Given the description of an element on the screen output the (x, y) to click on. 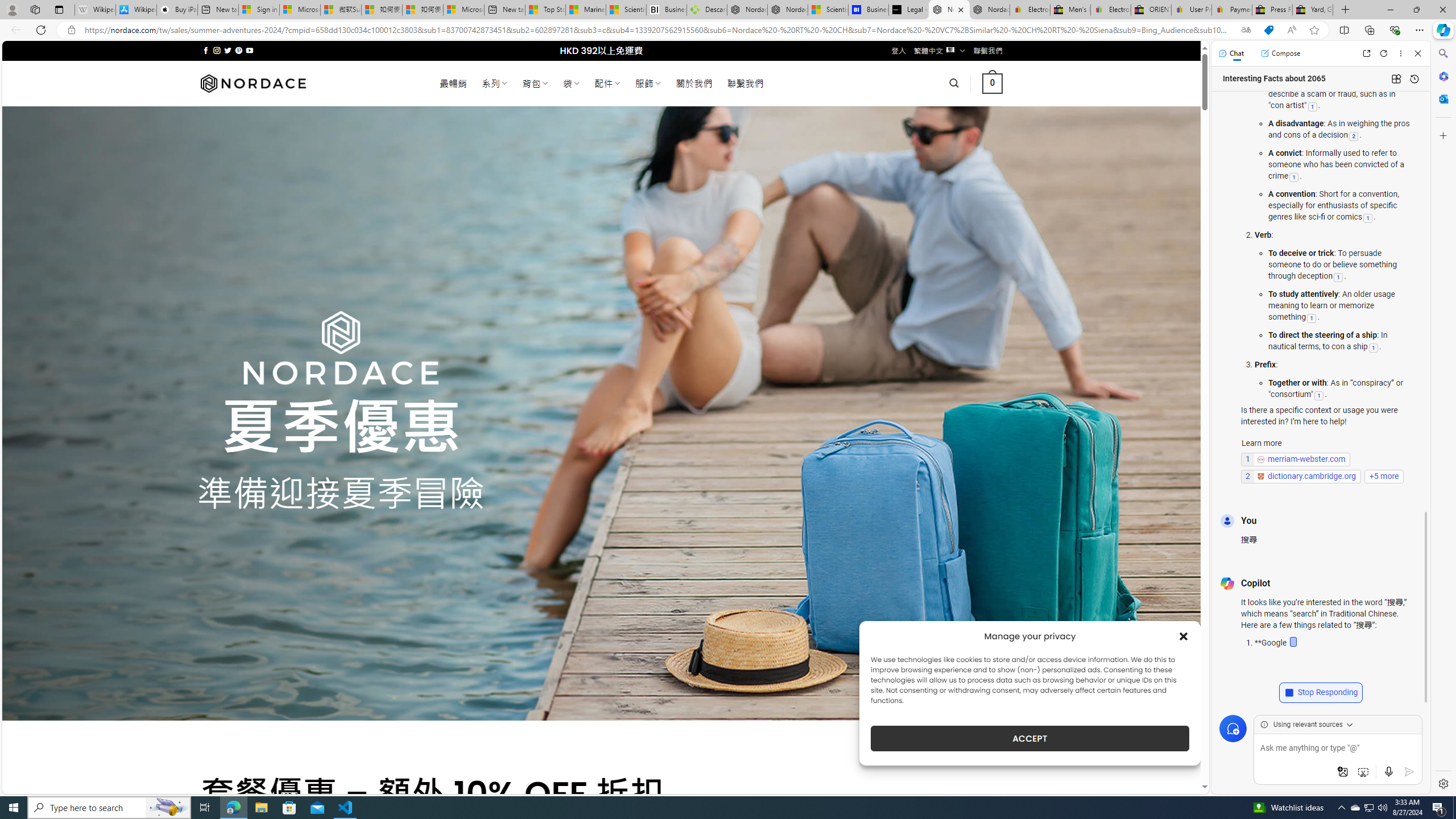
Compose (1280, 52)
